Given the description of an element on the screen output the (x, y) to click on. 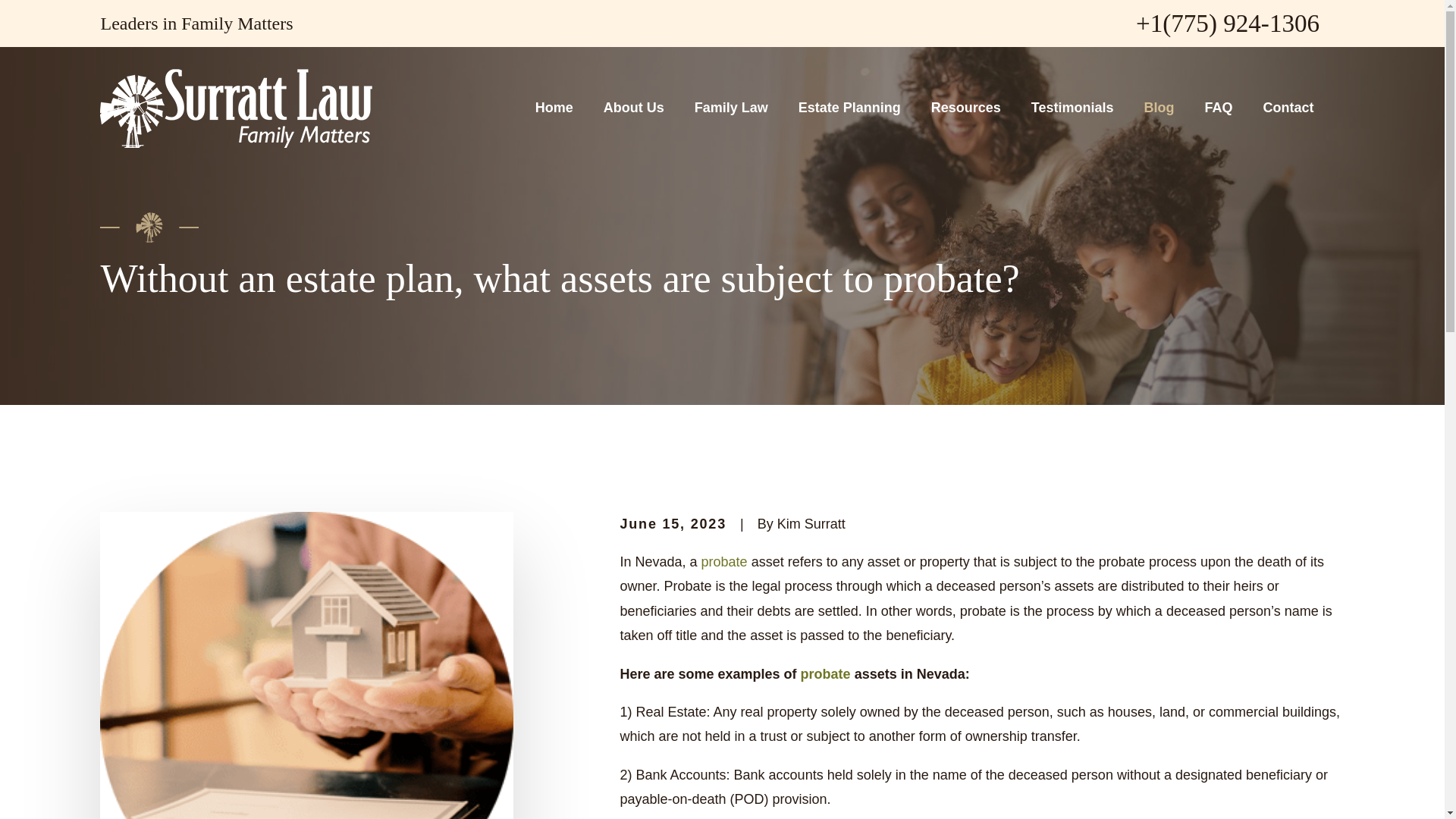
Estate Planning (849, 108)
Home (236, 108)
About Us (633, 108)
Resources (966, 108)
Family Law (731, 108)
